Given the description of an element on the screen output the (x, y) to click on. 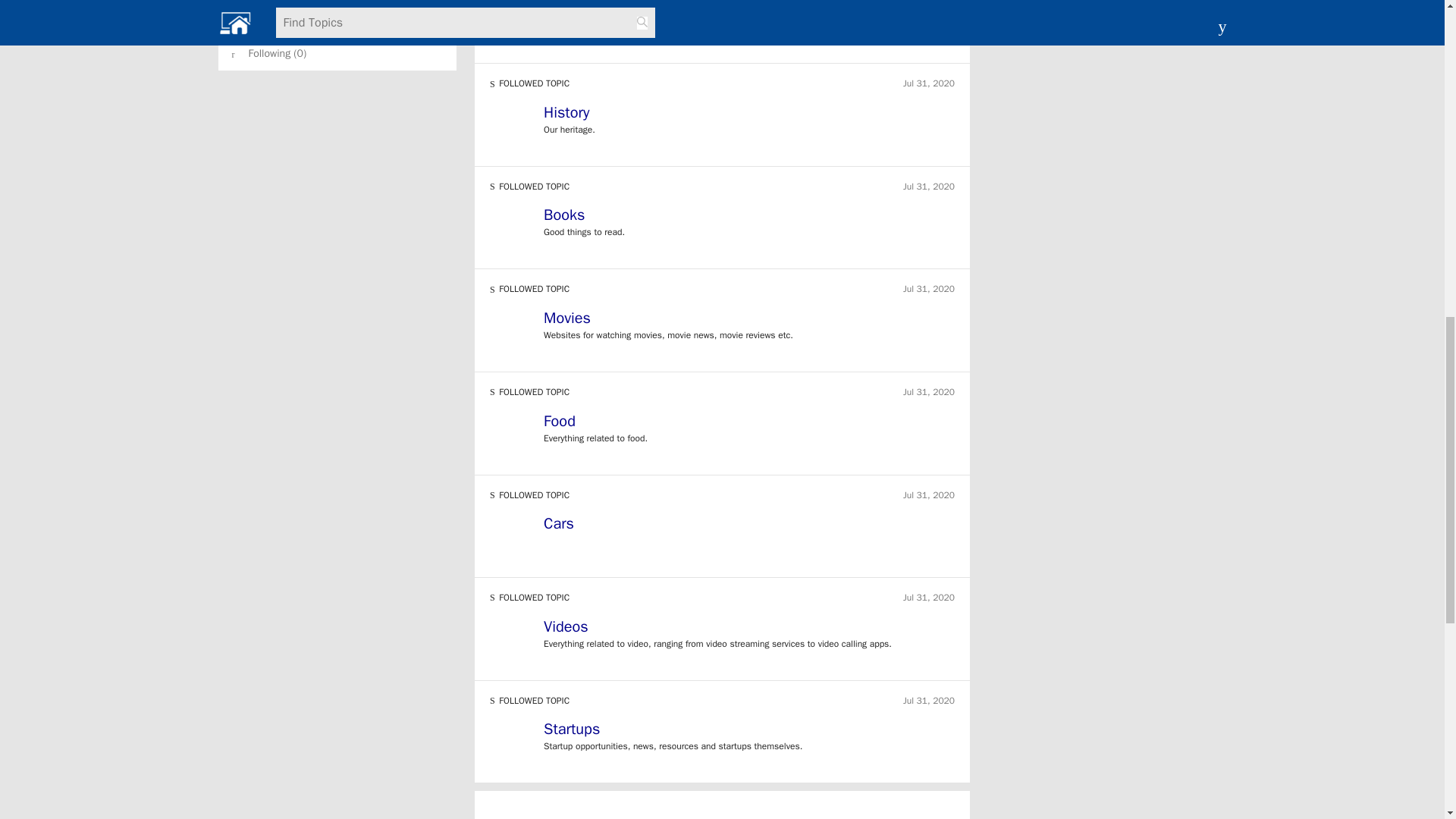
Movies (567, 317)
Cars (558, 523)
Entertainment (749, 11)
Cars (749, 525)
Food (559, 420)
Books (749, 217)
Videos (749, 629)
Food (749, 423)
Books (564, 214)
Movies (749, 320)
Startups (749, 731)
History (566, 112)
Entertainment (590, 9)
History (749, 114)
